Given the description of an element on the screen output the (x, y) to click on. 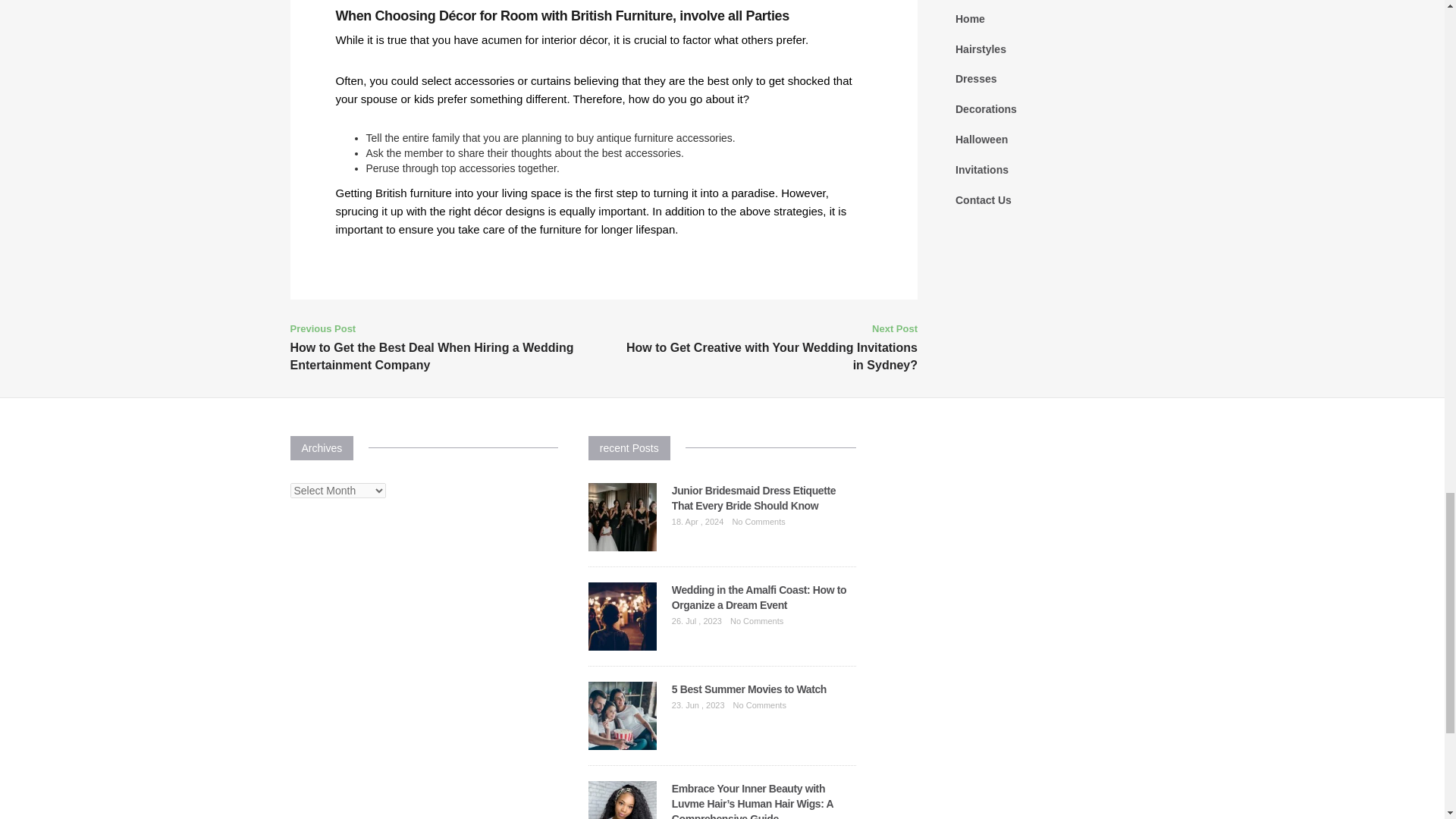
Contact Us (983, 200)
Home (970, 19)
Halloween (981, 139)
5 Best Summer Movies to Watch (749, 689)
Dresses (976, 78)
Wedding in the Amalfi Coast: How to Organize a Dream Event (758, 596)
Decorations (985, 109)
Invitations (982, 169)
Hairstyles (980, 48)
